Given the description of an element on the screen output the (x, y) to click on. 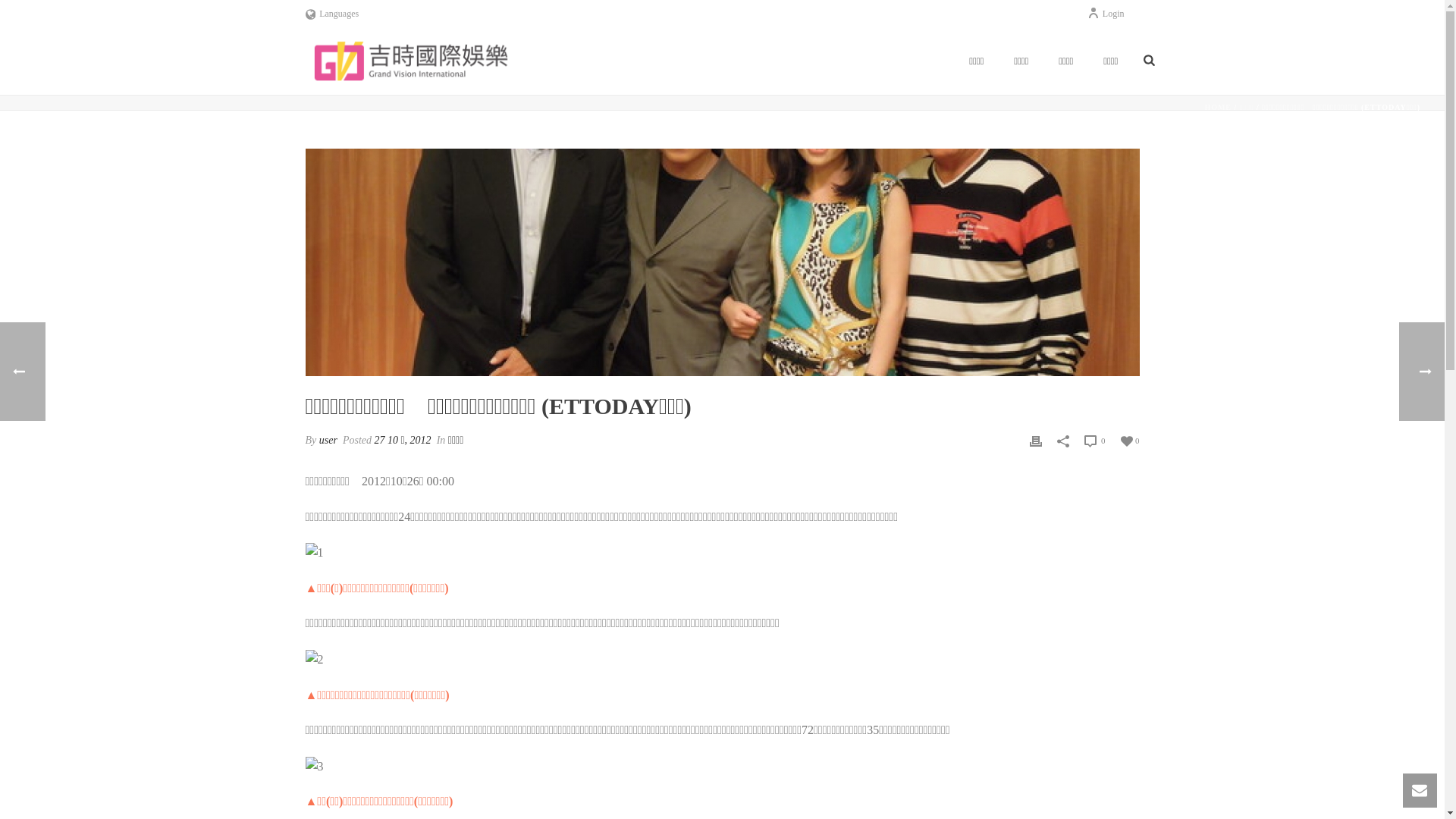
  Element type: text (721, 262)
Print Element type: hover (1035, 439)
0 Element type: text (1129, 439)
0 Element type: text (1094, 440)
Languages Element type: text (331, 13)
user Element type: text (328, 439)
HOME Element type: text (1217, 107)
Login Element type: text (1105, 13)
